Given the description of an element on the screen output the (x, y) to click on. 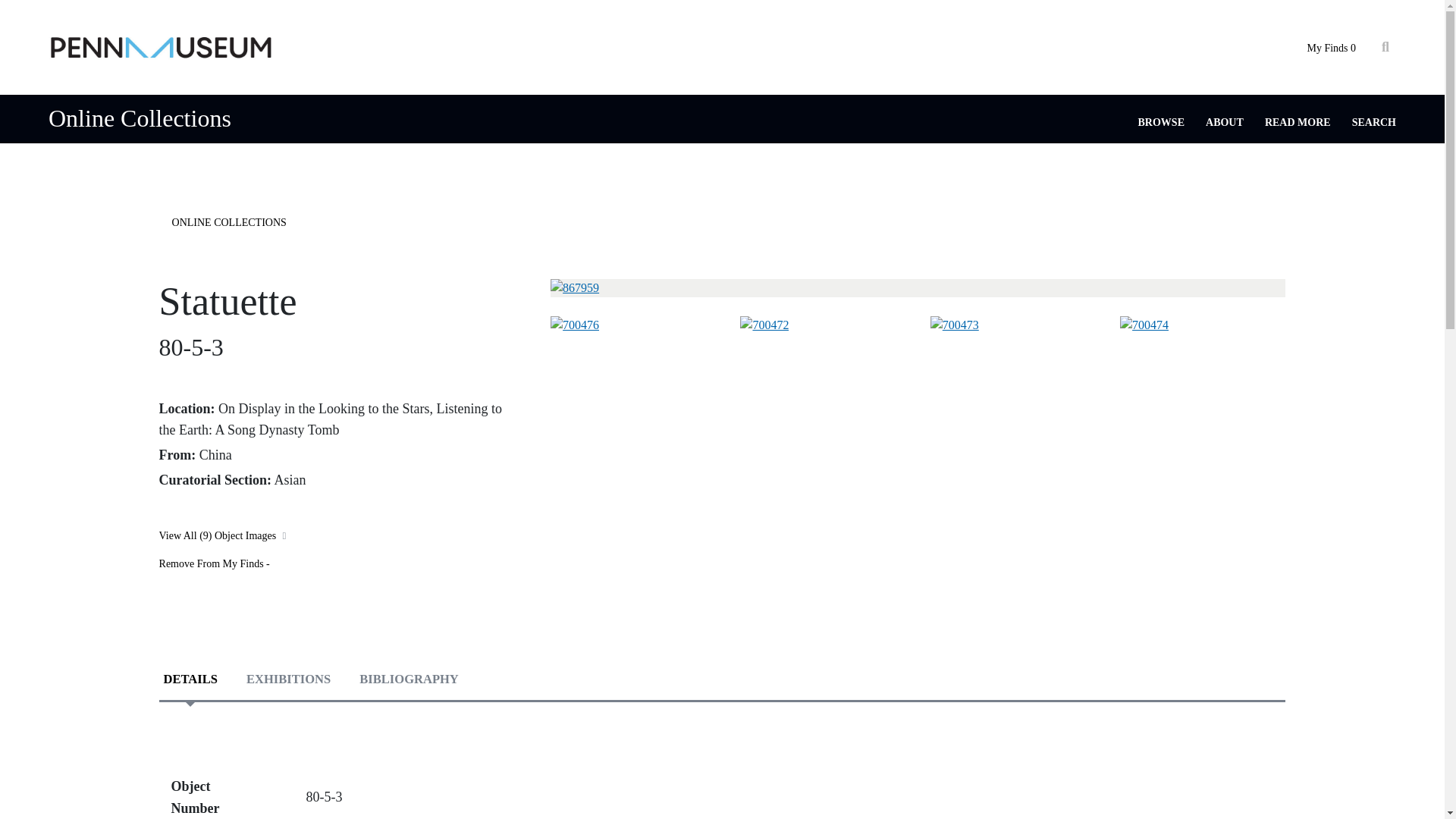
ABOUT (1224, 122)
Online Collections (139, 117)
READ MORE (1297, 122)
SEARCH (1374, 122)
My Finds 0 (1330, 48)
BROWSE (1161, 122)
